Given the description of an element on the screen output the (x, y) to click on. 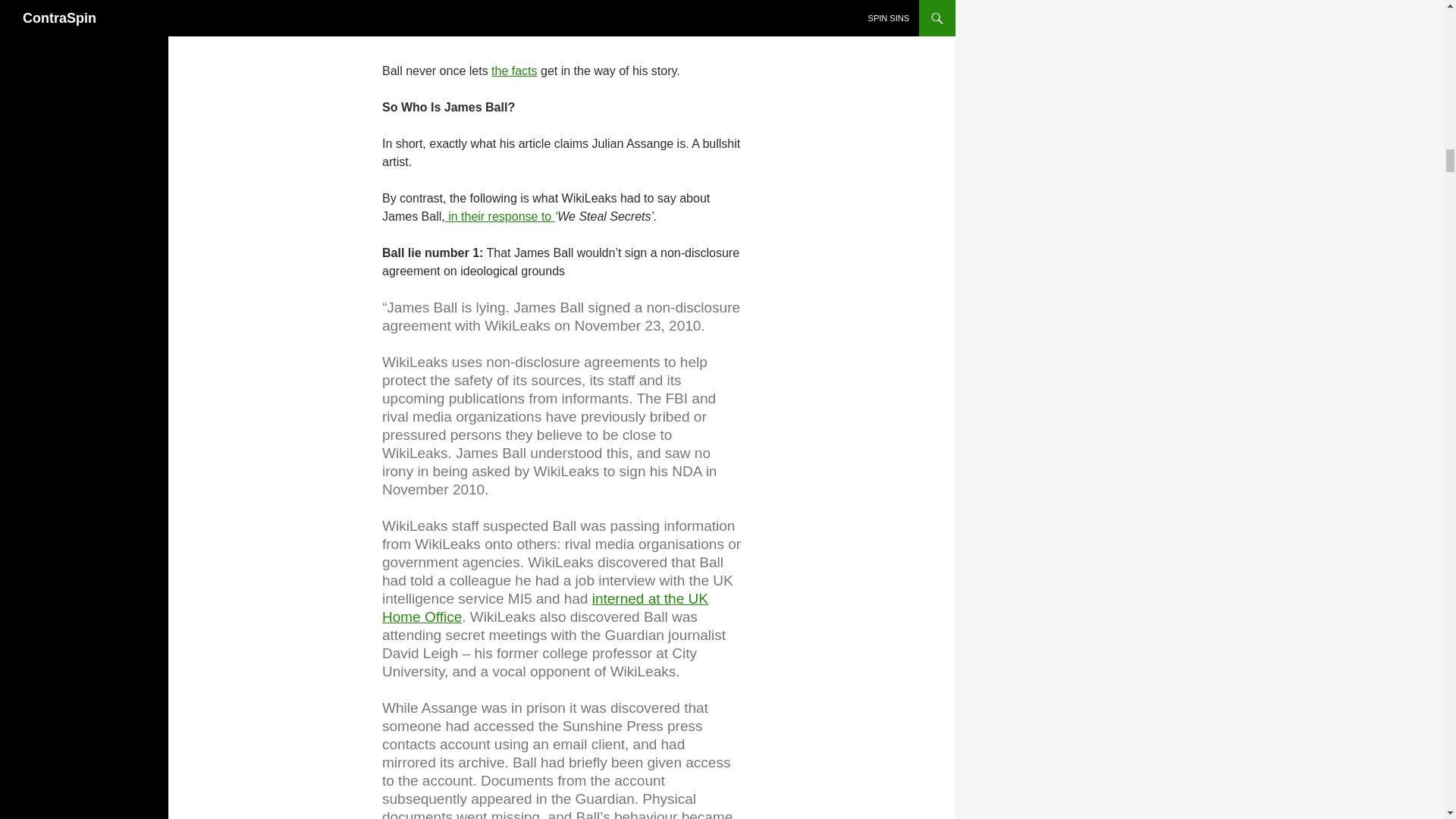
the facts (514, 69)
in their response to (499, 215)
interned at the UK Home Office (544, 606)
